Given the description of an element on the screen output the (x, y) to click on. 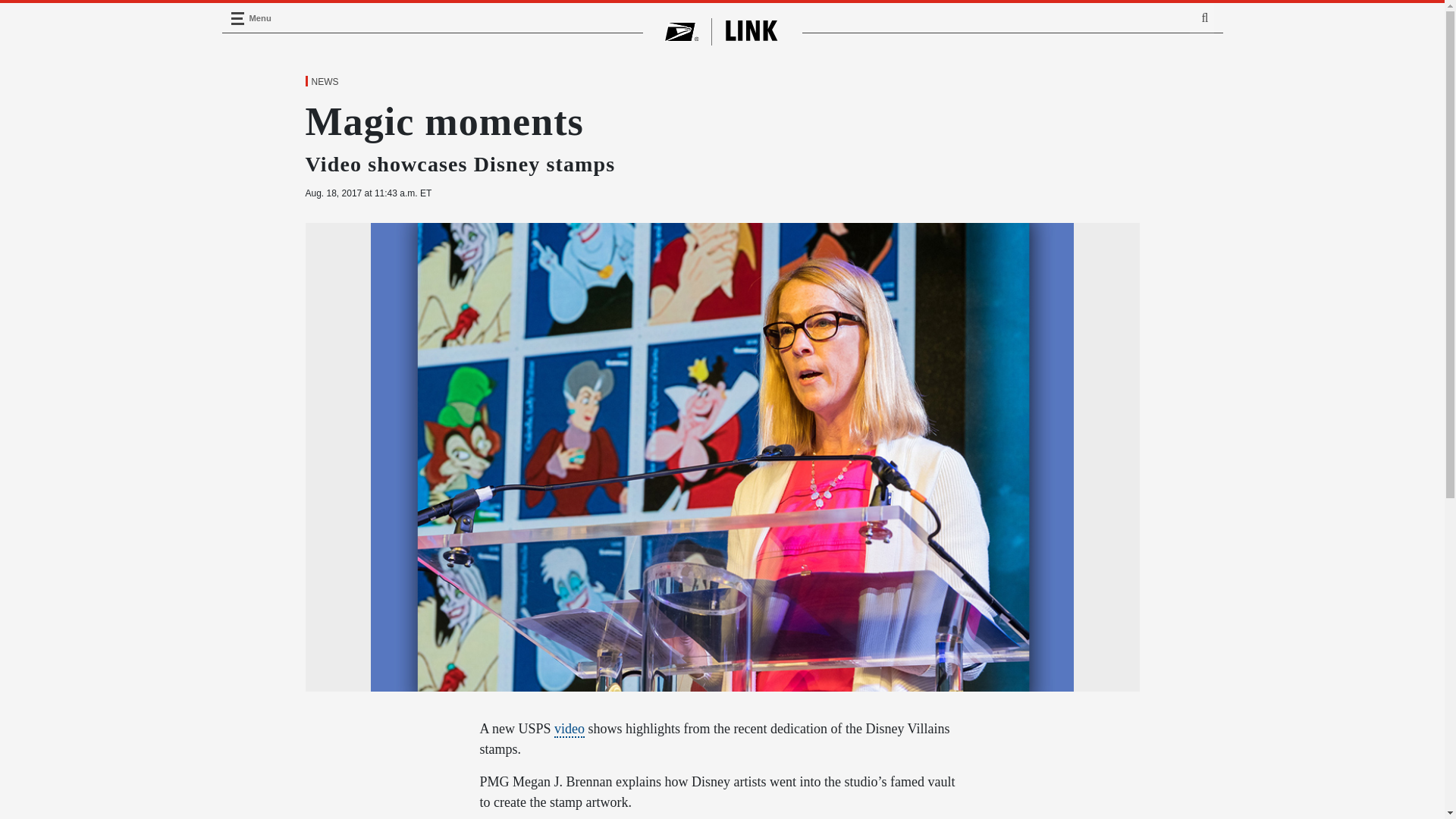
NEWS (323, 81)
video (569, 729)
Menu (237, 18)
